Given the description of an element on the screen output the (x, y) to click on. 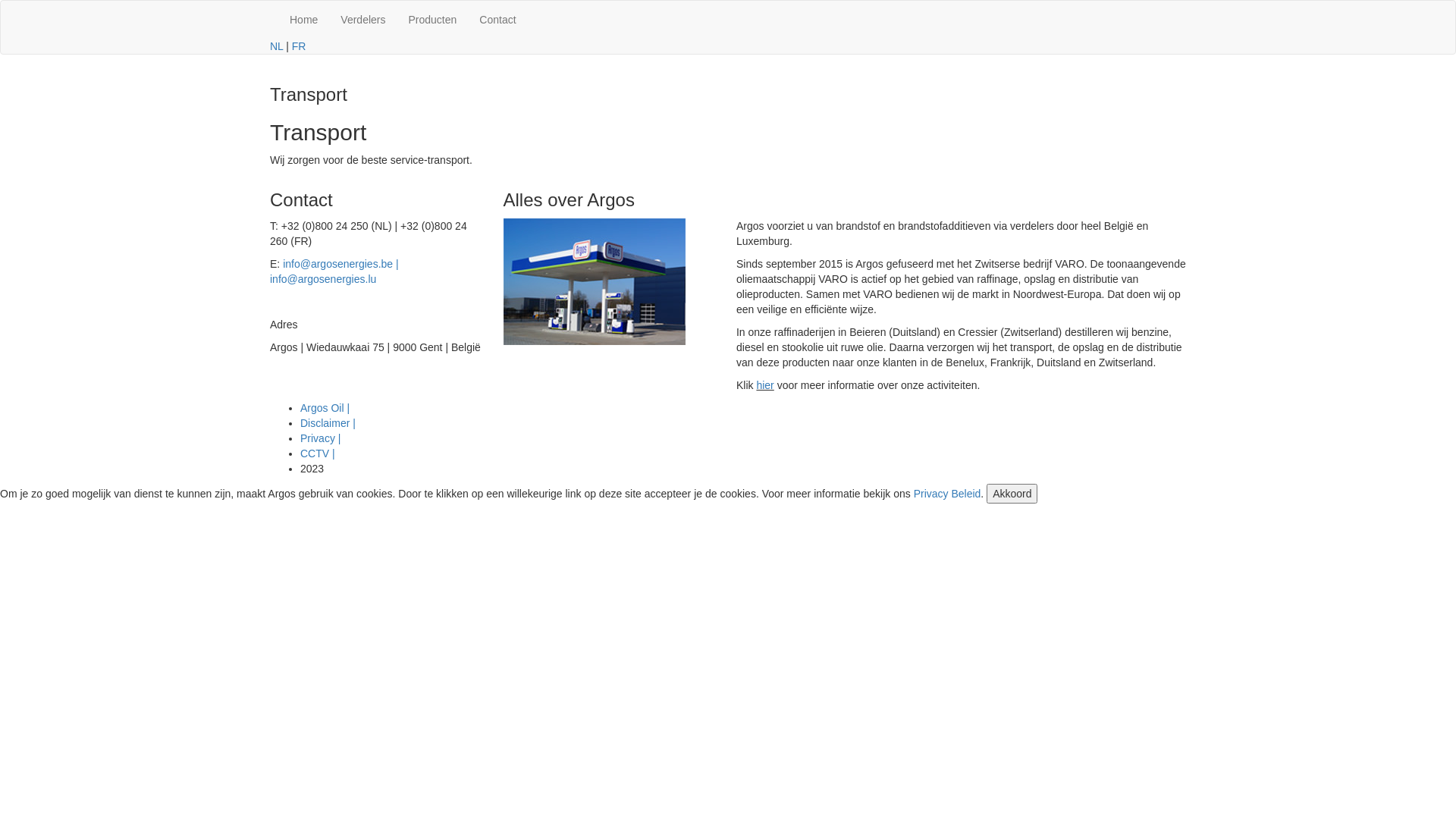
Privacy Beleid Element type: text (947, 493)
Verdelers Element type: text (362, 19)
Contact Element type: text (497, 19)
Disclaimer | Element type: text (327, 423)
FR Element type: text (298, 46)
Akkoord Element type: text (1011, 493)
Producten Element type: text (432, 19)
hier Element type: text (764, 385)
CCTV | Element type: text (317, 453)
info@argosenergies.be | info@argosenergies.lu Element type: text (333, 271)
NL Element type: text (275, 46)
Privacy | Element type: text (320, 438)
Home Element type: text (303, 19)
Argos Oil | Element type: text (324, 407)
